Given the description of an element on the screen output the (x, y) to click on. 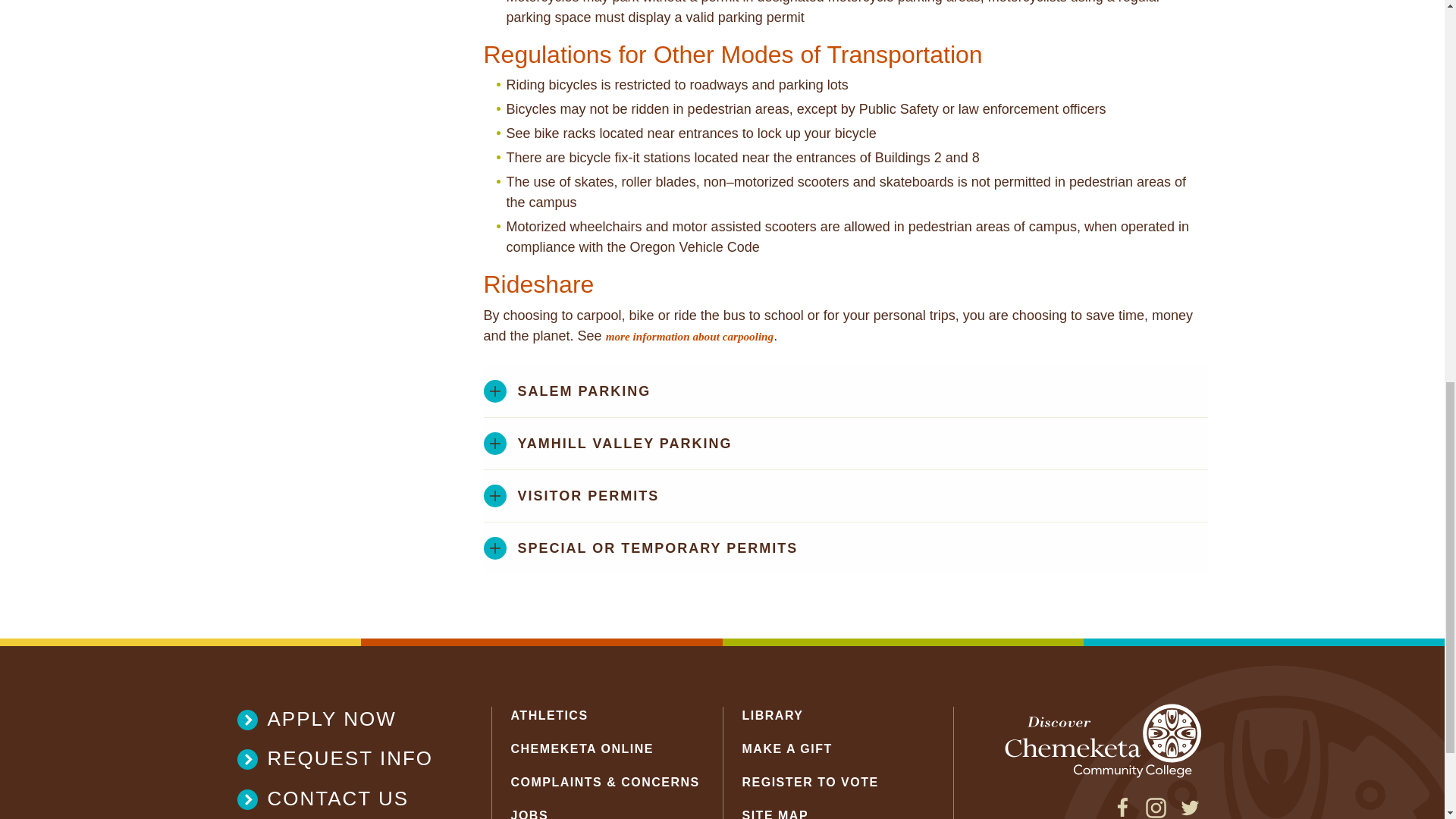
Request Info (343, 758)
Twitter (1189, 813)
Apply Now (343, 719)
Instagram (1155, 813)
Facebook (1122, 813)
Contact Us (343, 798)
